Given the description of an element on the screen output the (x, y) to click on. 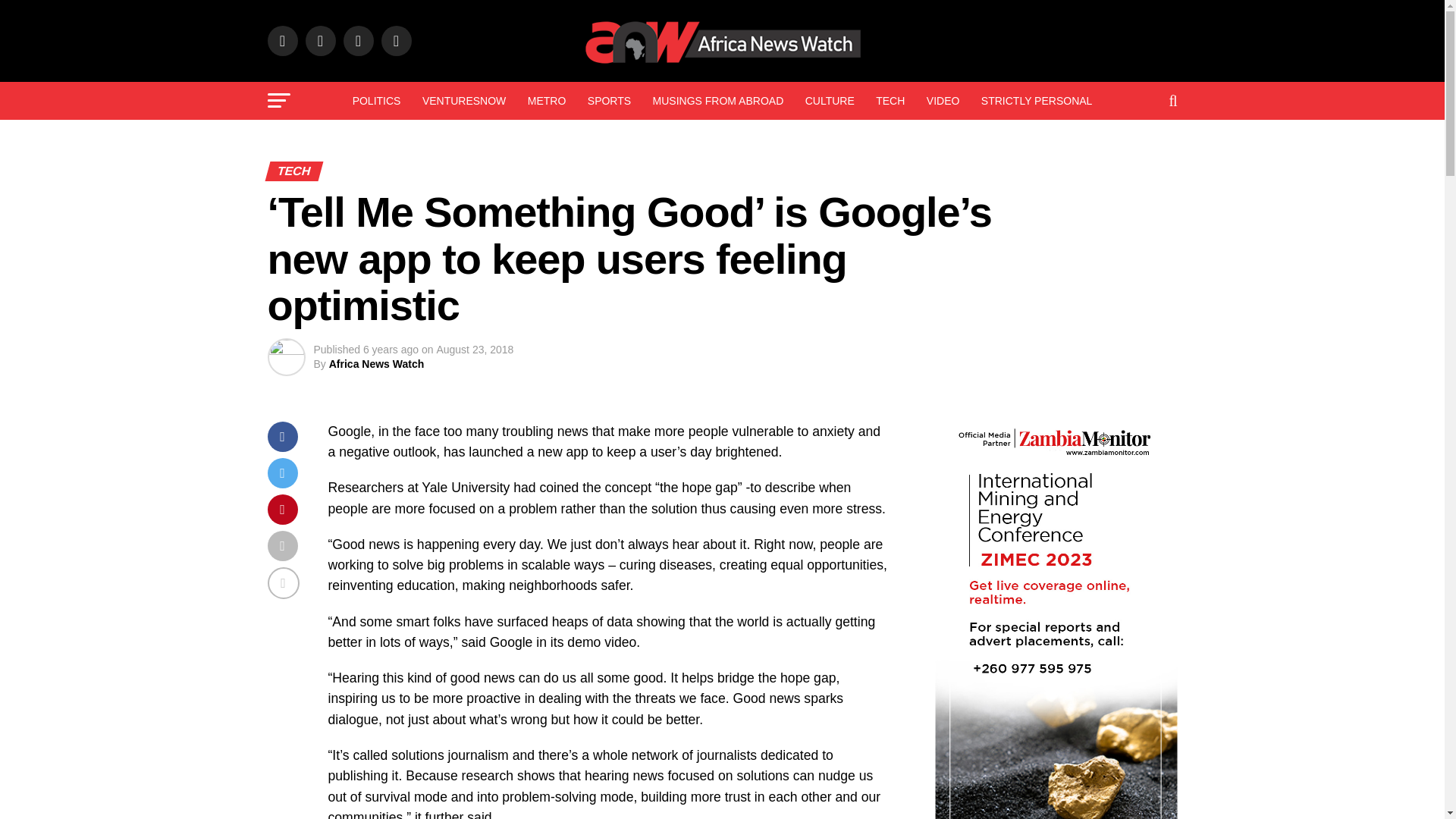
SPORTS (609, 100)
POLITICS (376, 100)
METRO (546, 100)
Posts by Africa News Watch (377, 363)
VENTURESNOW (464, 100)
